Given the description of an element on the screen output the (x, y) to click on. 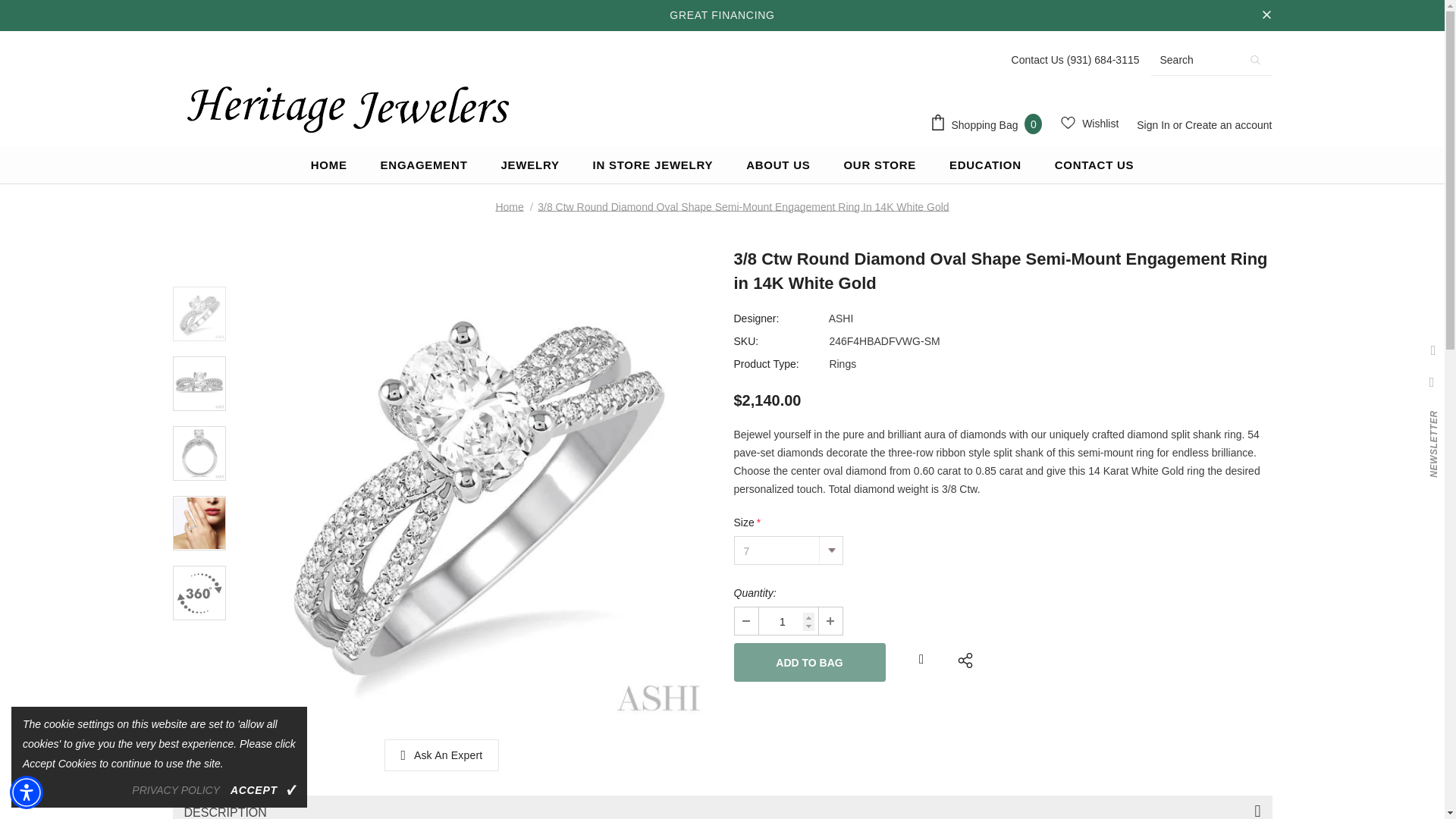
Accessibility Menu (26, 792)
close (1266, 14)
1 (787, 620)
Add to Bag (809, 661)
